Given the description of an element on the screen output the (x, y) to click on. 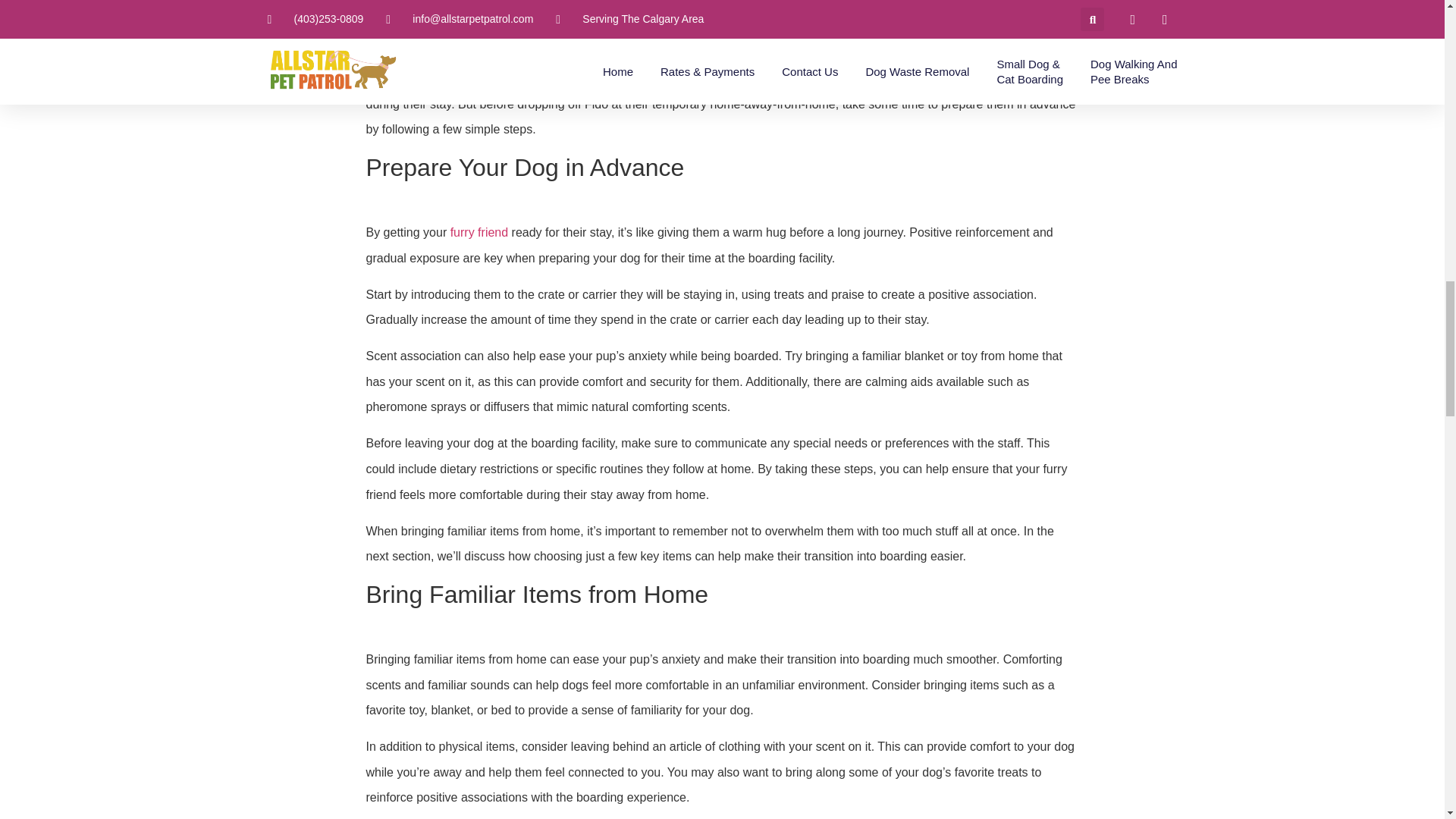
furry friend (903, 78)
furry friend (903, 78)
furry friend (478, 232)
furry friend (478, 232)
